Given the description of an element on the screen output the (x, y) to click on. 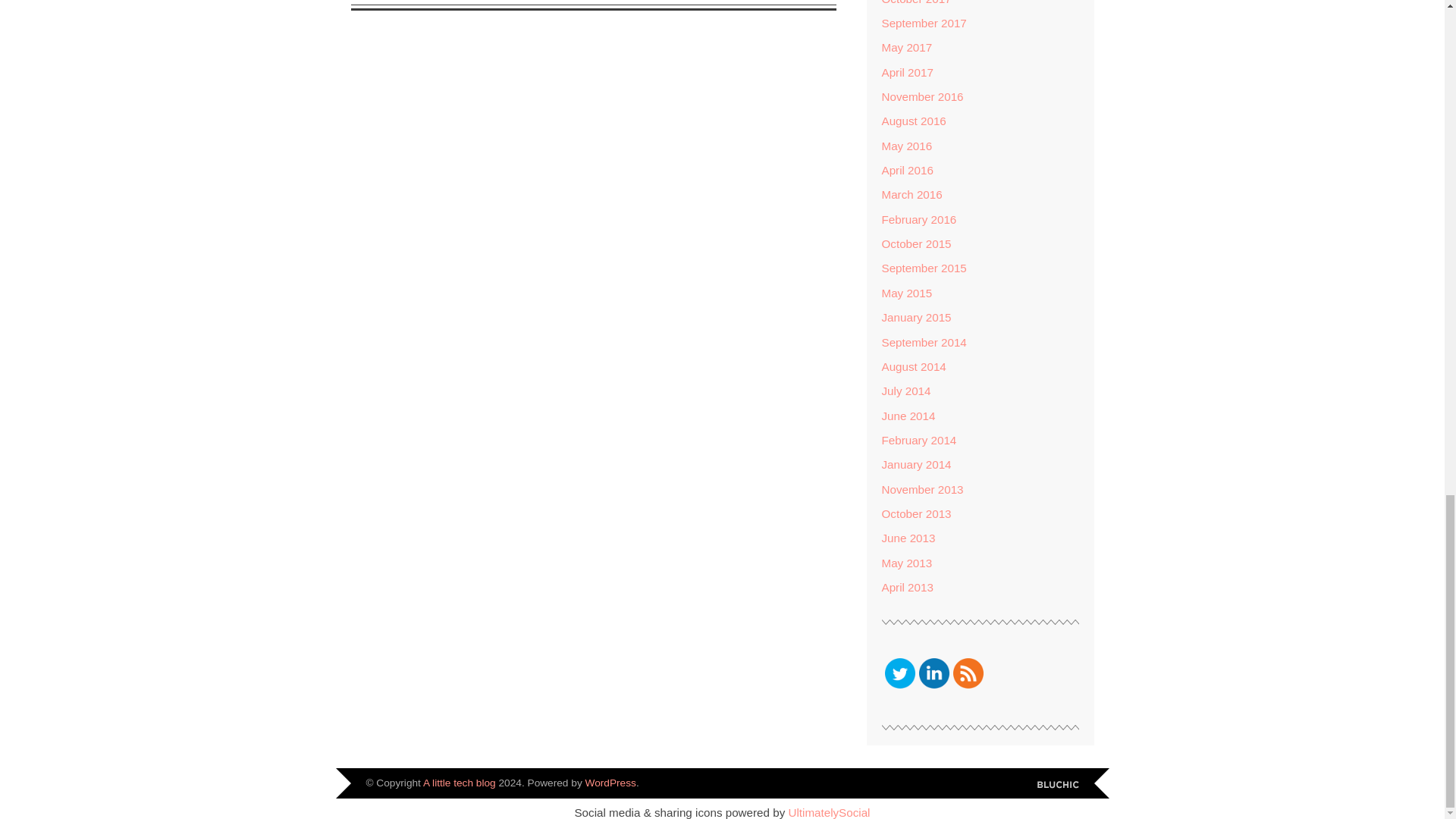
RSS (967, 673)
Theme designed by BluChic (1057, 785)
Twitter (898, 673)
LinkedIn (933, 673)
